Given the description of an element on the screen output the (x, y) to click on. 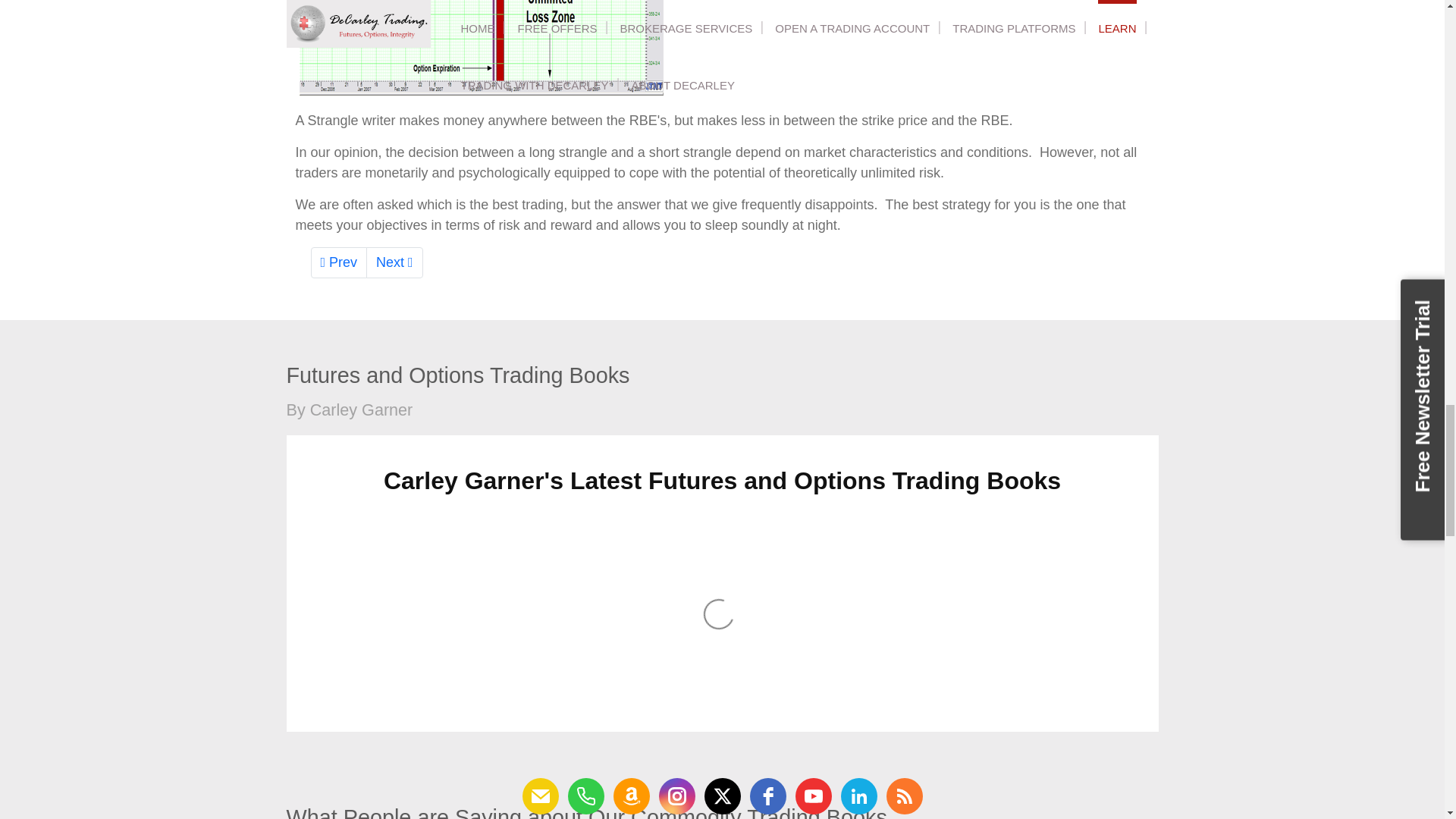
Trading Long Option Strangles (339, 262)
Swing Trading with Options (394, 262)
Corn Futures Chart (480, 47)
